Given the description of an element on the screen output the (x, y) to click on. 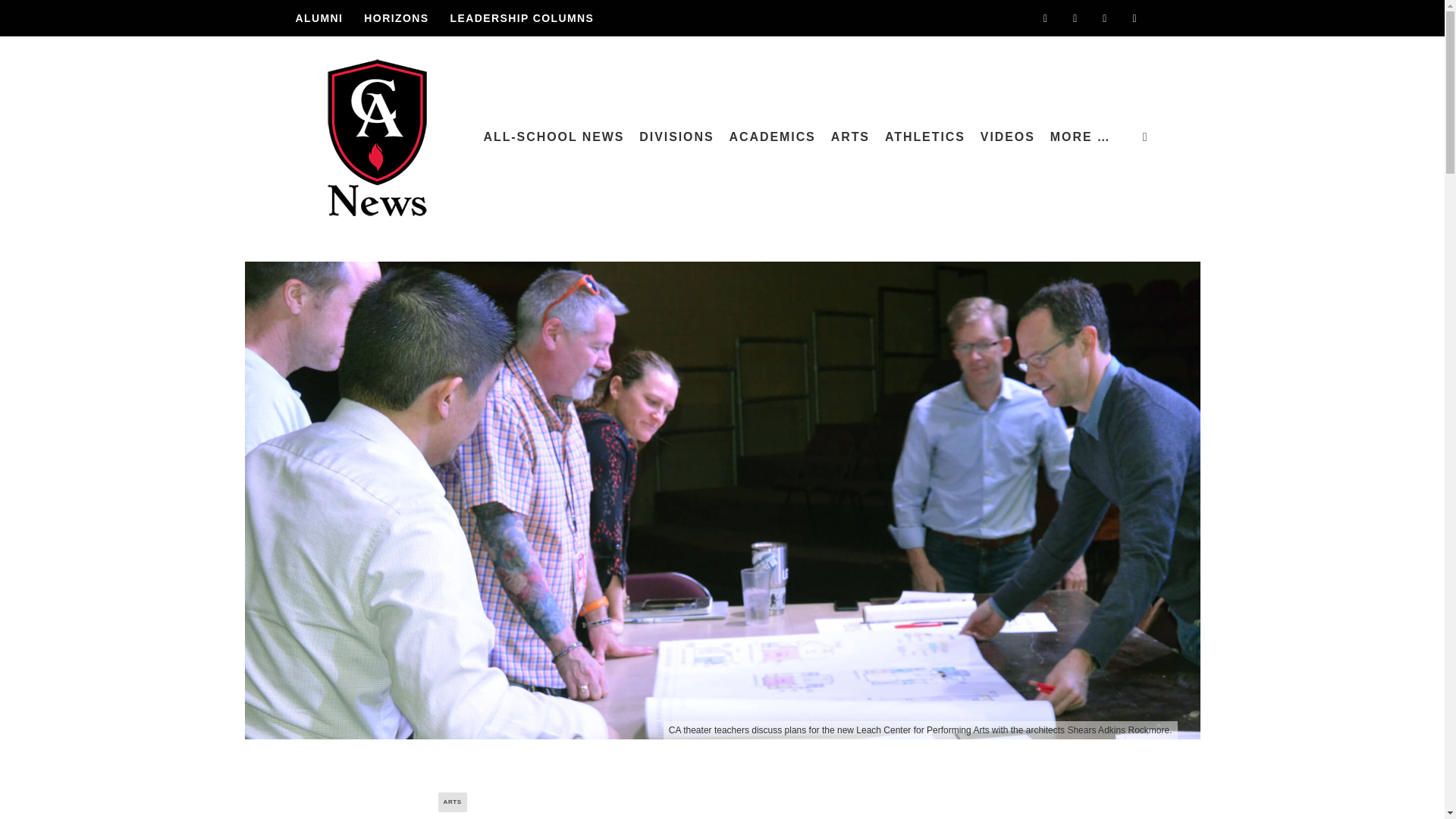
ALL-SCHOOL NEWS (553, 137)
ACADEMICS (773, 137)
ARTS (850, 137)
ATHLETICS (924, 137)
LEADERSHIP COLUMNS (521, 18)
DIVISIONS (675, 137)
HORIZONS (395, 18)
ALUMNI (318, 18)
VIDEOS (1007, 137)
